Given the description of an element on the screen output the (x, y) to click on. 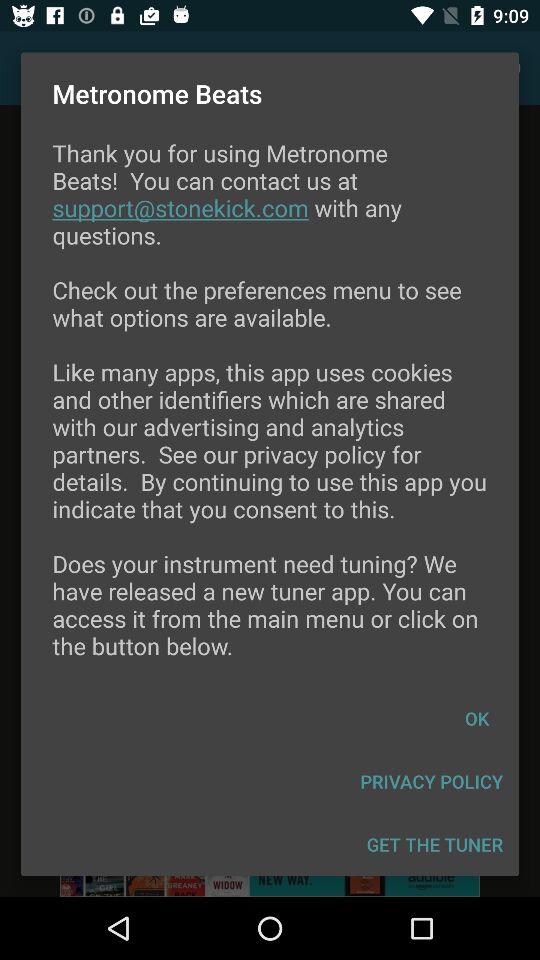
jump until the ok (477, 718)
